Given the description of an element on the screen output the (x, y) to click on. 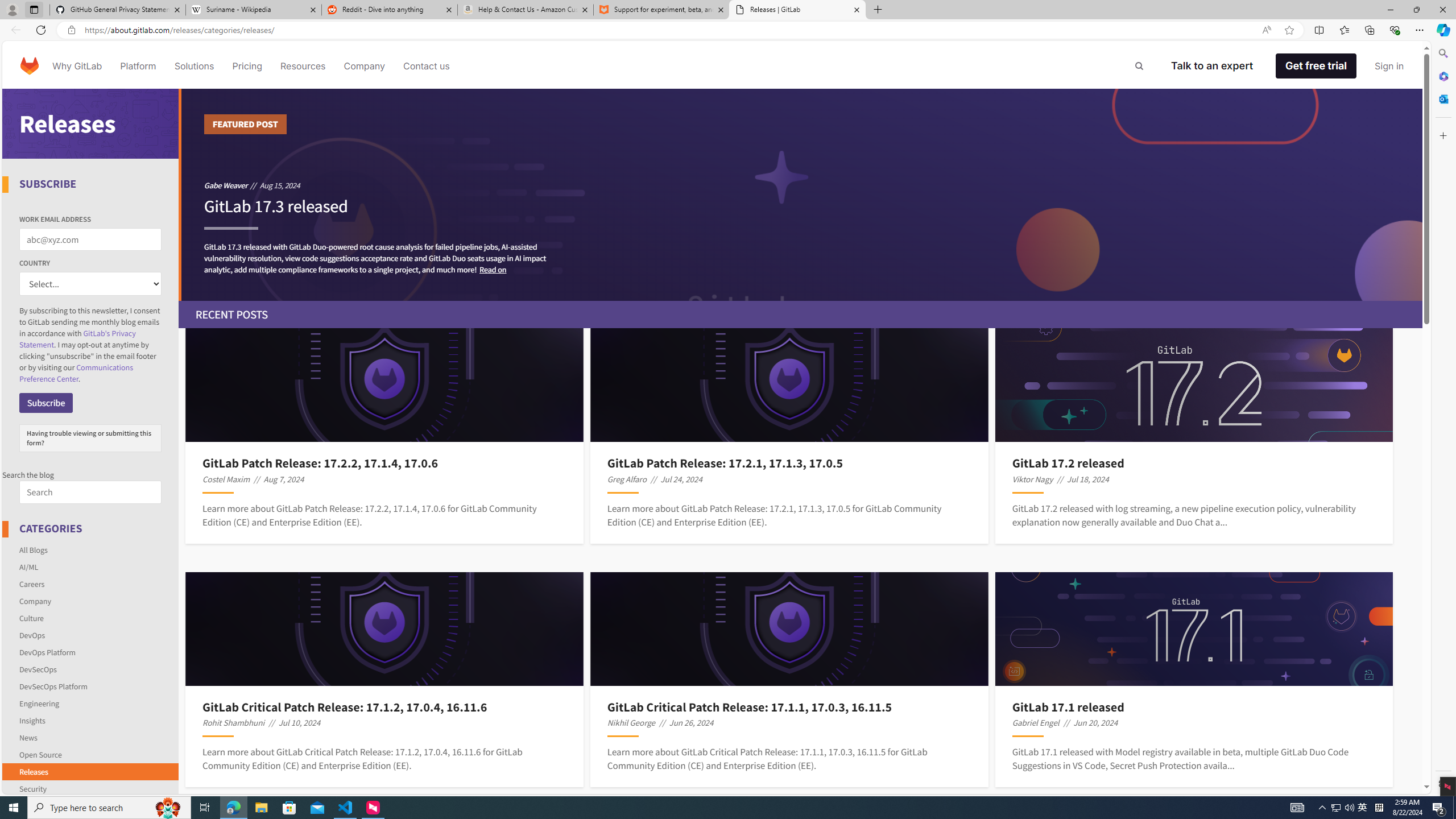
GitLab Patch Release: 17.2.1, 17.1.3, 17.0.5 (789, 463)
Reddit - Dive into anything (390, 9)
Subscribe (45, 402)
GitLab 17.3 released (275, 211)
Company (90, 600)
GitHub General Privacy Statement - GitHub Docs (117, 9)
Suriname - Wikipedia (253, 9)
Rohit Shambhuni (233, 722)
Contact us (426, 65)
